Given the description of an element on the screen output the (x, y) to click on. 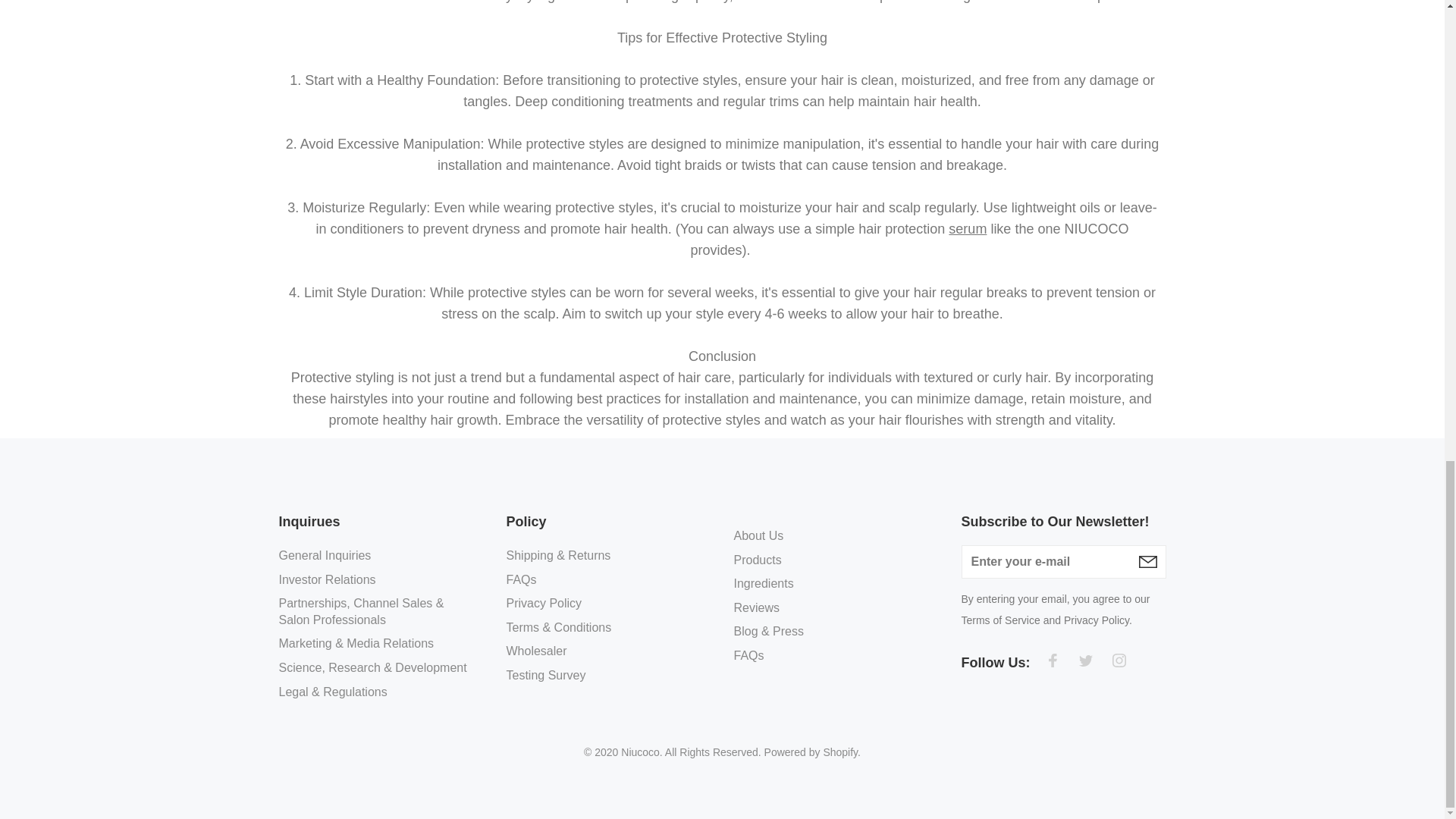
FAQs (521, 580)
serum (968, 228)
General Inquiries (325, 557)
Investor Relations (327, 580)
